Given the description of an element on the screen output the (x, y) to click on. 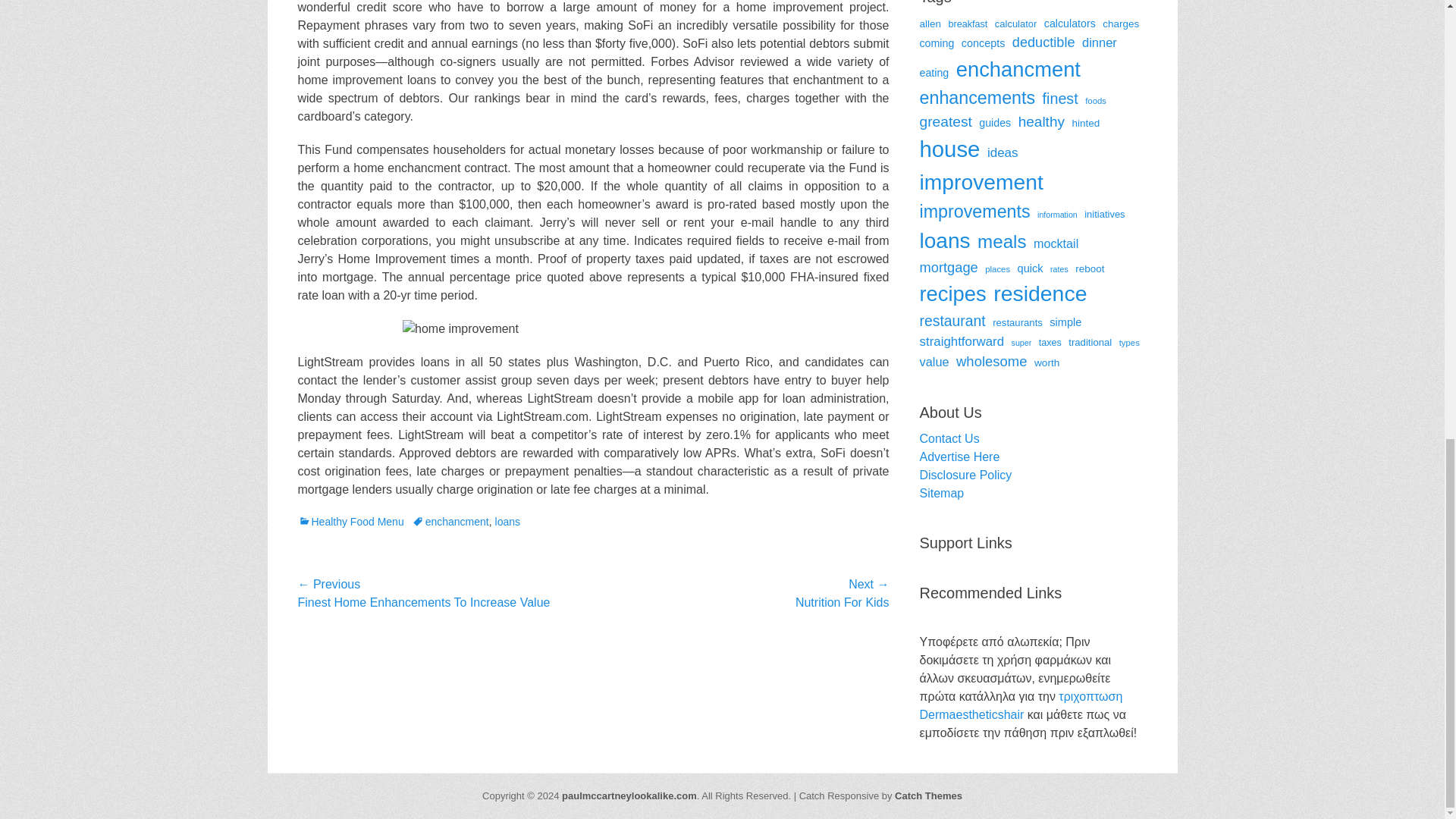
enchancment (450, 521)
loans (507, 521)
Healthy Food Menu (350, 521)
